Given the description of an element on the screen output the (x, y) to click on. 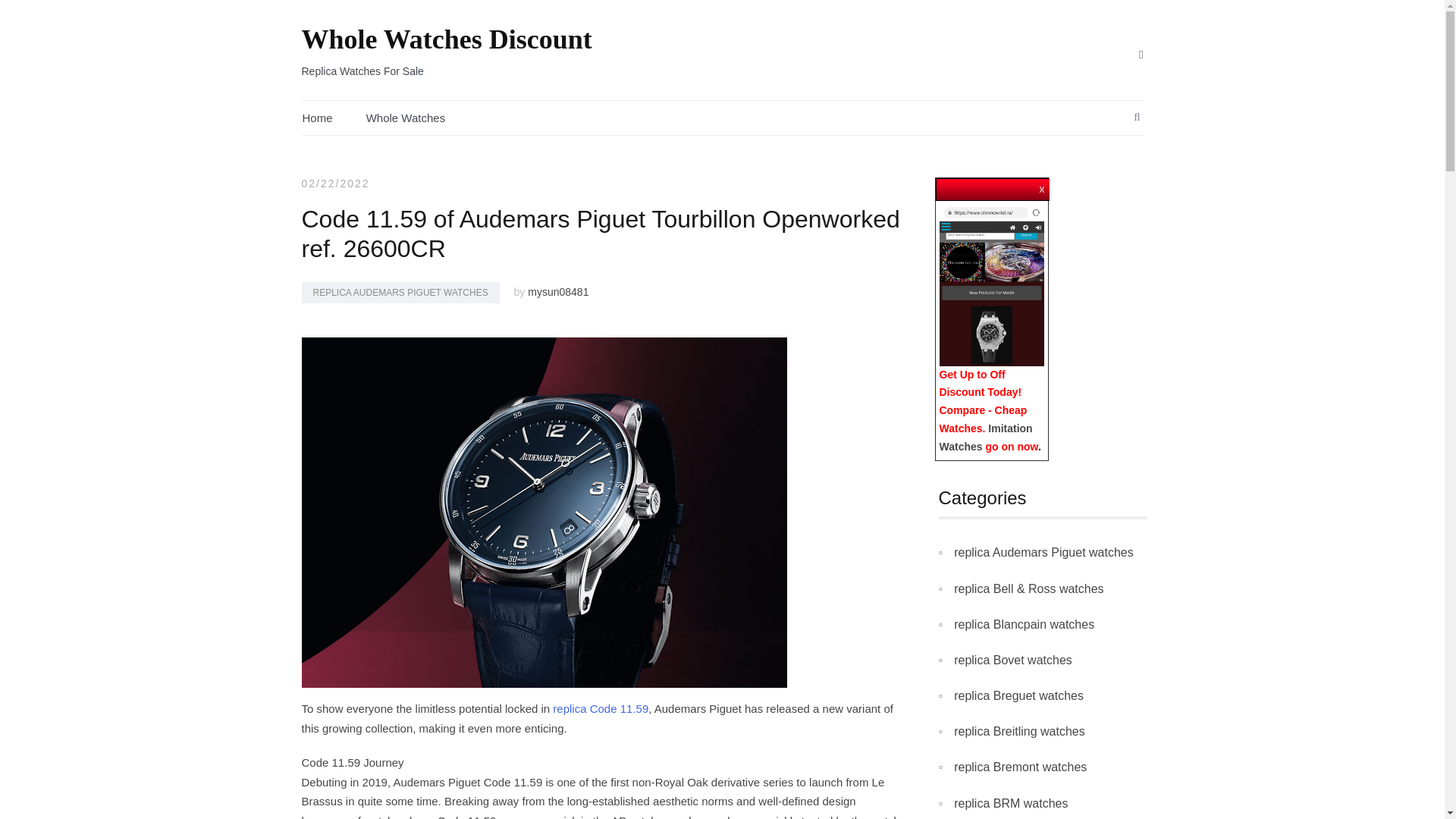
replica Blancpain watches (1023, 624)
replica Bovet watches (1012, 660)
Click Now (991, 284)
Whole Watches Discount (446, 39)
mysun08481 (557, 291)
replica Breitling watches (1018, 731)
REPLICA AUDEMARS PIGUET WATCHES (400, 292)
replica BRM watches (1010, 803)
Whole Watches (405, 117)
Imitation Watches (985, 437)
replica Code 11.59 (600, 707)
replica Breguet watches (1018, 695)
